Given the description of an element on the screen output the (x, y) to click on. 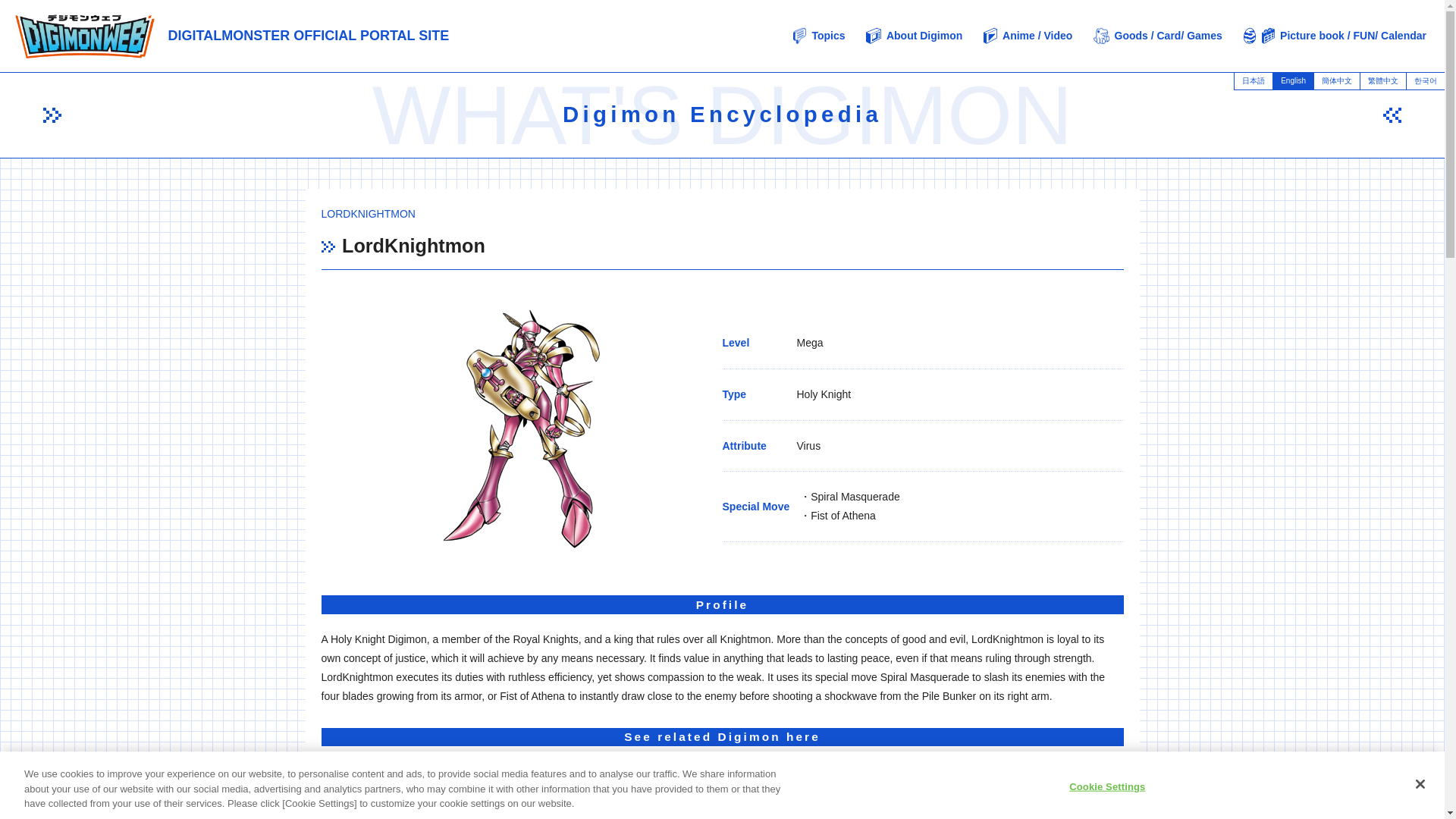
English (1292, 80)
Cookie Settings (1106, 786)
Topics (818, 35)
About Digimon (914, 35)
